Given the description of an element on the screen output the (x, y) to click on. 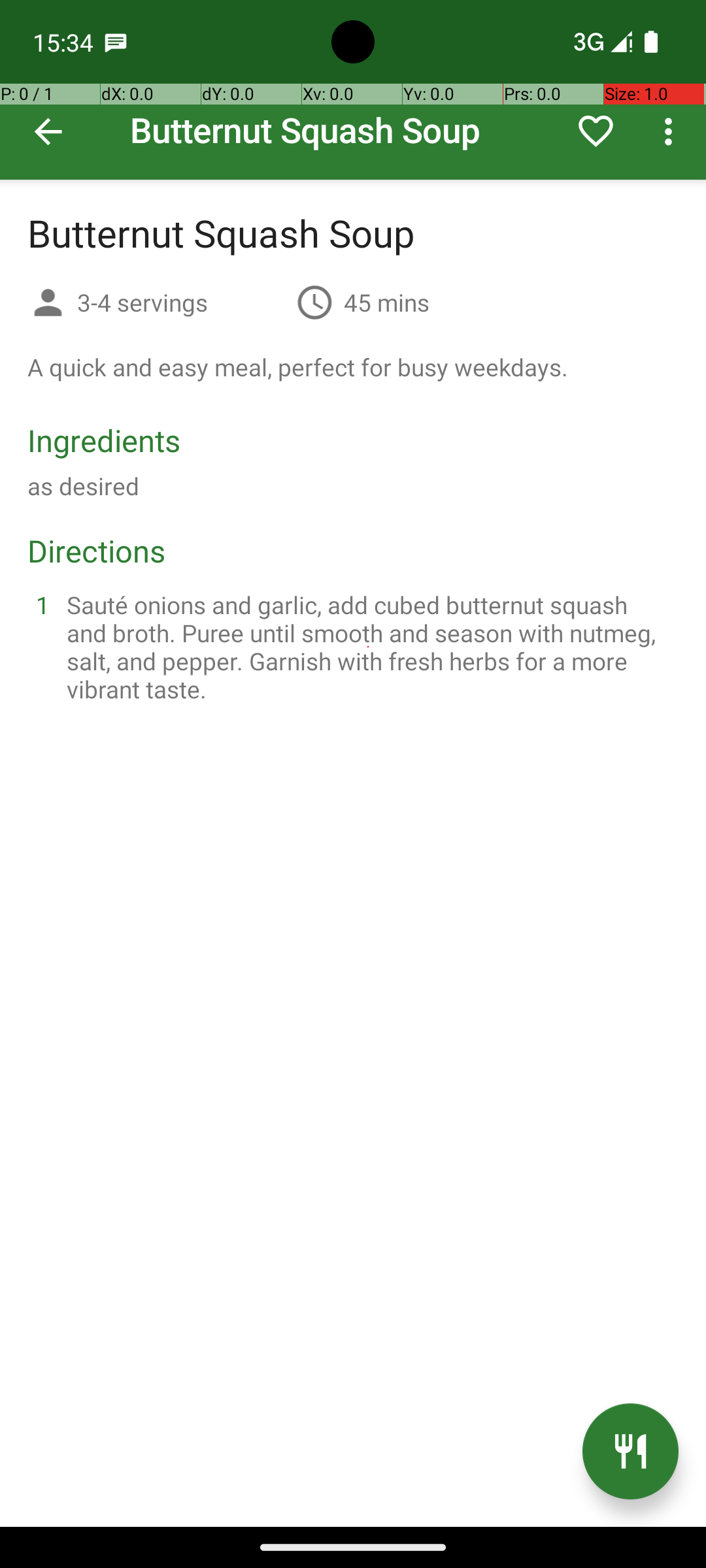
as desired Element type: android.widget.TextView (83, 485)
Sauté onions and garlic, add cubed butternut squash and broth. Puree until smooth and season with nutmeg, salt, and pepper. Garnish with fresh herbs for a more vibrant taste. Element type: android.widget.TextView (368, 646)
